Given the description of an element on the screen output the (x, y) to click on. 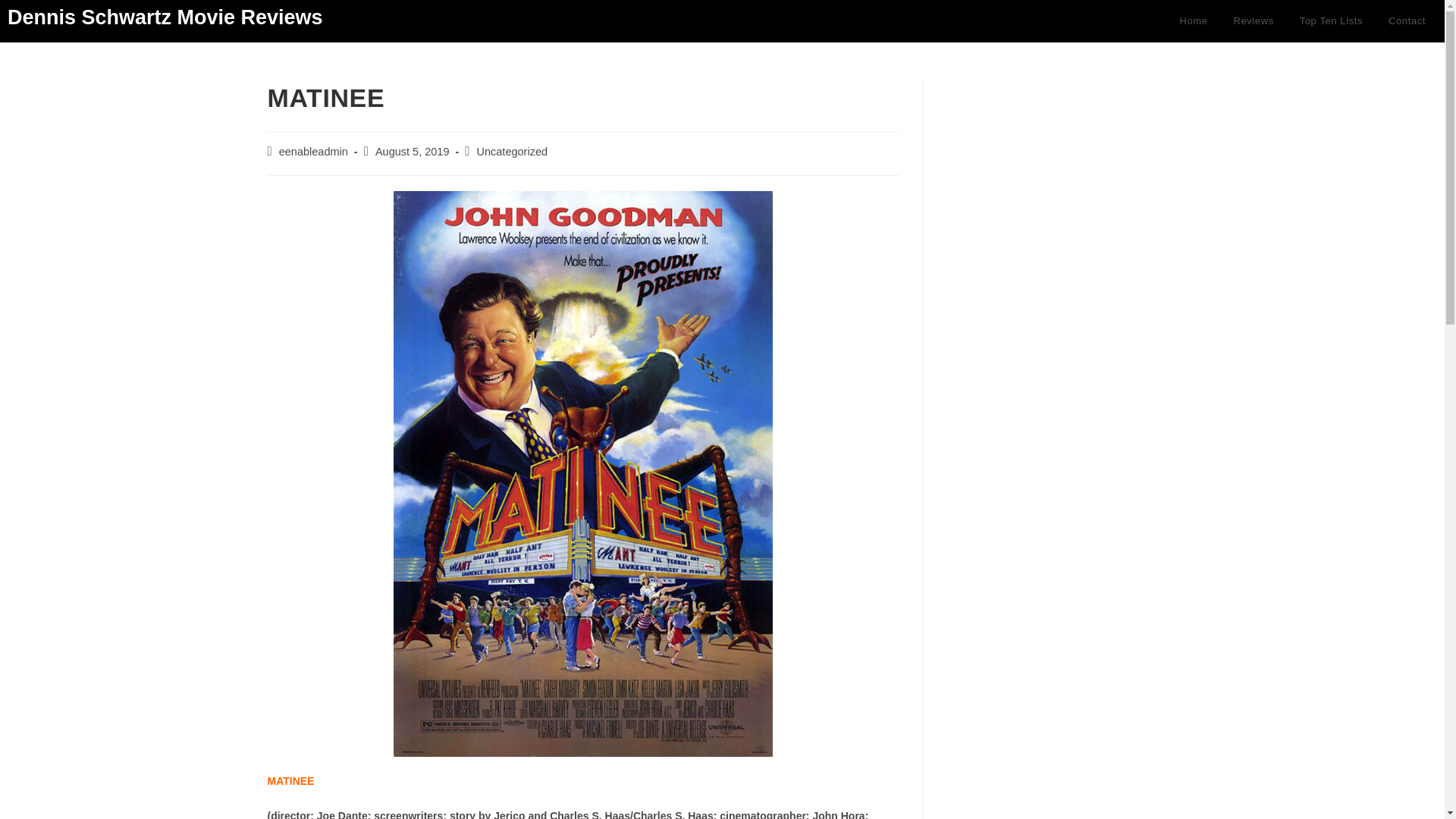
Top Ten Lists (1331, 21)
Posts by eenableadmin (313, 151)
Reviews (1252, 21)
eenableadmin (313, 151)
Home (1192, 21)
Uncategorized (512, 151)
Contact (1407, 21)
